Given the description of an element on the screen output the (x, y) to click on. 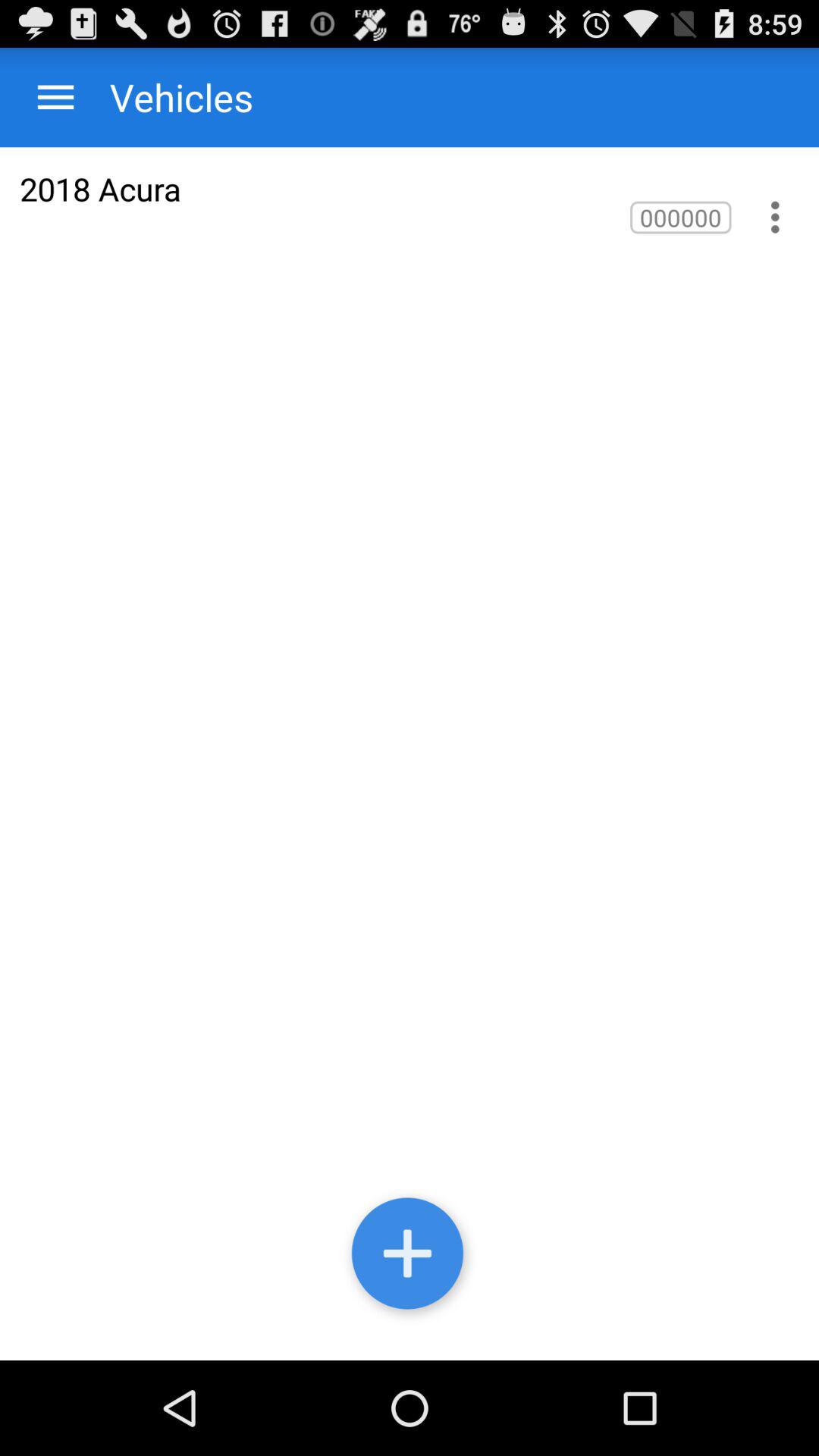
flip to 000000 icon (680, 217)
